Given the description of an element on the screen output the (x, y) to click on. 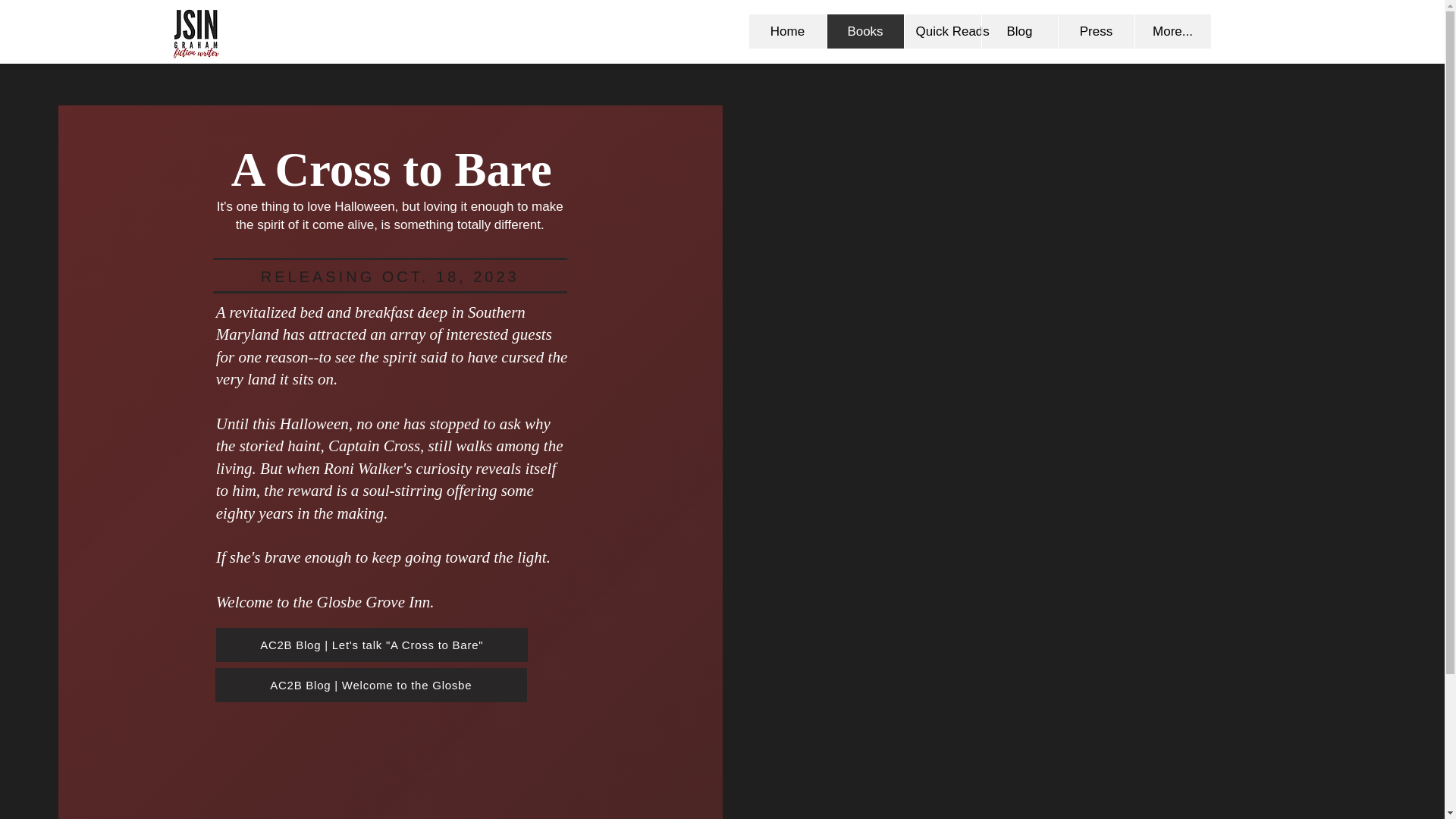
Quick Reads (942, 31)
Home (788, 31)
Blog (1019, 31)
Books (865, 31)
Press (1095, 31)
